Given the description of an element on the screen output the (x, y) to click on. 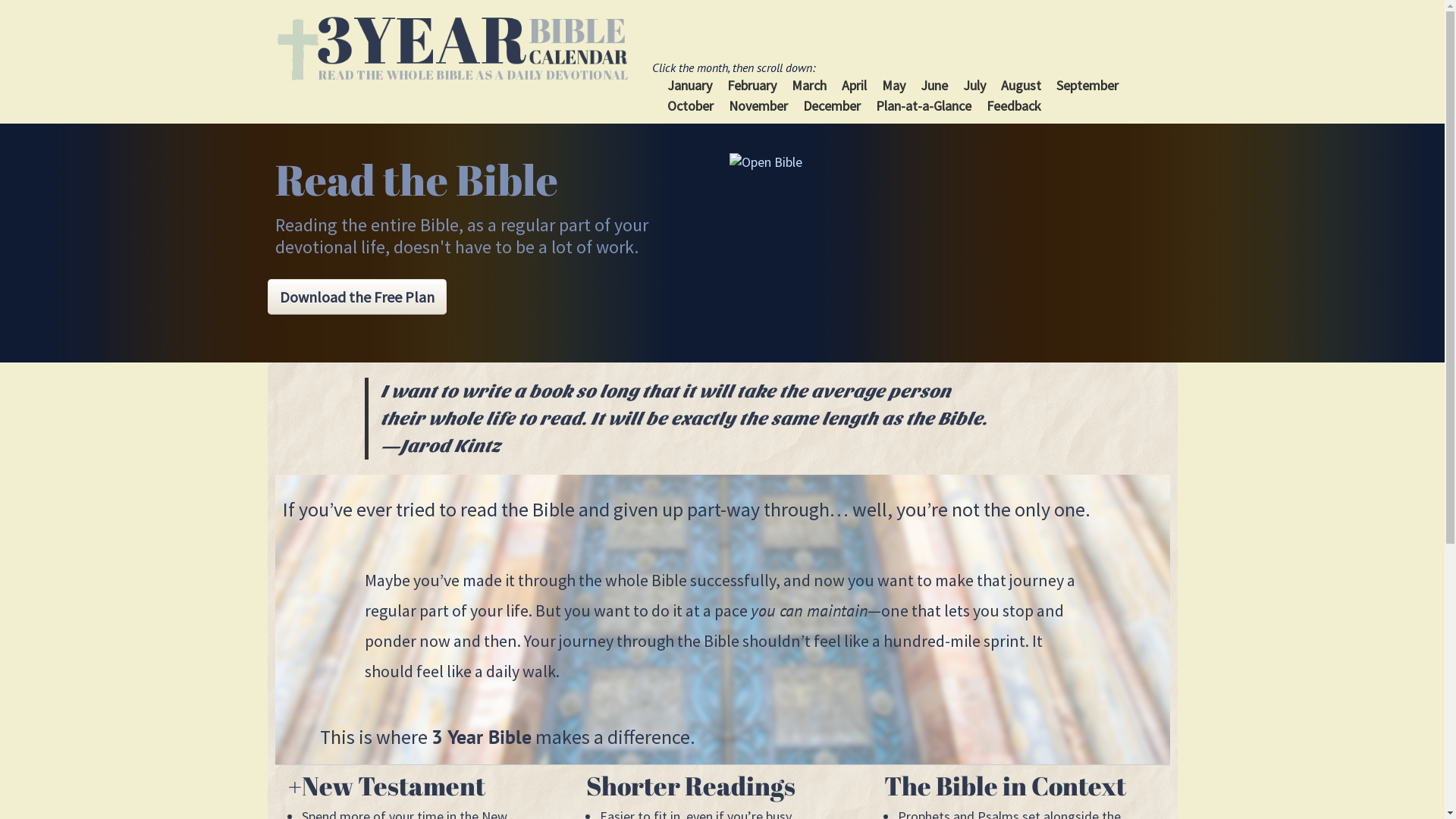
November Element type: text (757, 105)
3 Year Bible Element type: hover (451, 48)
July Element type: text (974, 85)
Skip to content Element type: text (692, 67)
Feedback Element type: text (1013, 105)
May Element type: text (893, 85)
April Element type: text (853, 85)
October Element type: text (690, 105)
August Element type: text (1021, 85)
February Element type: text (751, 85)
June Element type: text (933, 85)
Plan-at-a-Glance Element type: text (923, 105)
Download the Free Plan Element type: text (355, 296)
December Element type: text (831, 105)
September Element type: text (1087, 85)
January Element type: text (689, 85)
March Element type: text (808, 85)
